Given the description of an element on the screen output the (x, y) to click on. 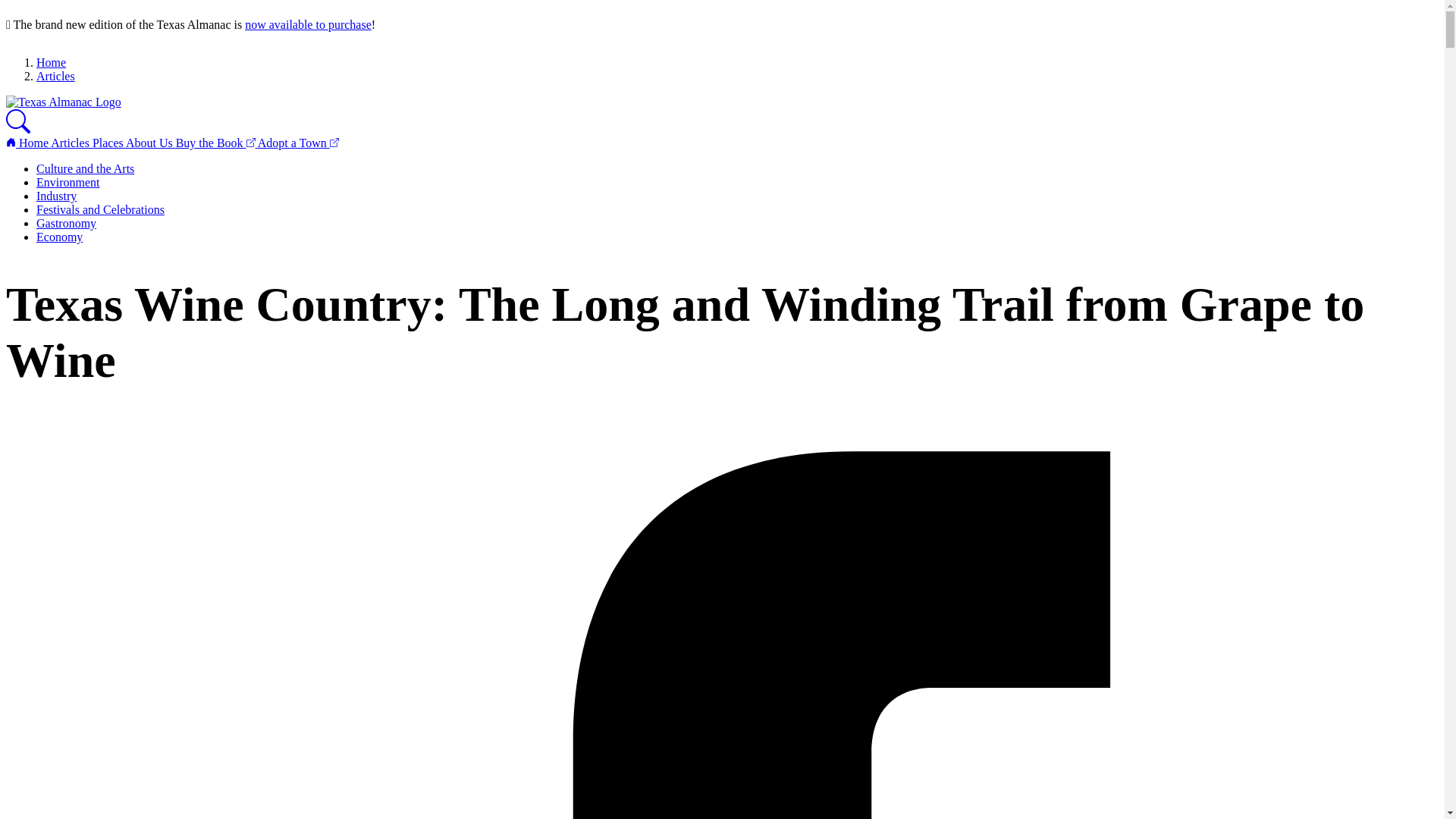
Home (50, 62)
Home (27, 142)
Buy the Book (216, 142)
Industry (56, 195)
Economy (59, 236)
Places (109, 142)
Articles (55, 75)
Adopt a Town (298, 142)
Environment (68, 182)
About Us (150, 142)
Culture and the Arts (84, 168)
Gastronomy (66, 223)
Articles (71, 142)
Festivals and Celebrations (100, 209)
now available to purchase (307, 24)
